Given the description of an element on the screen output the (x, y) to click on. 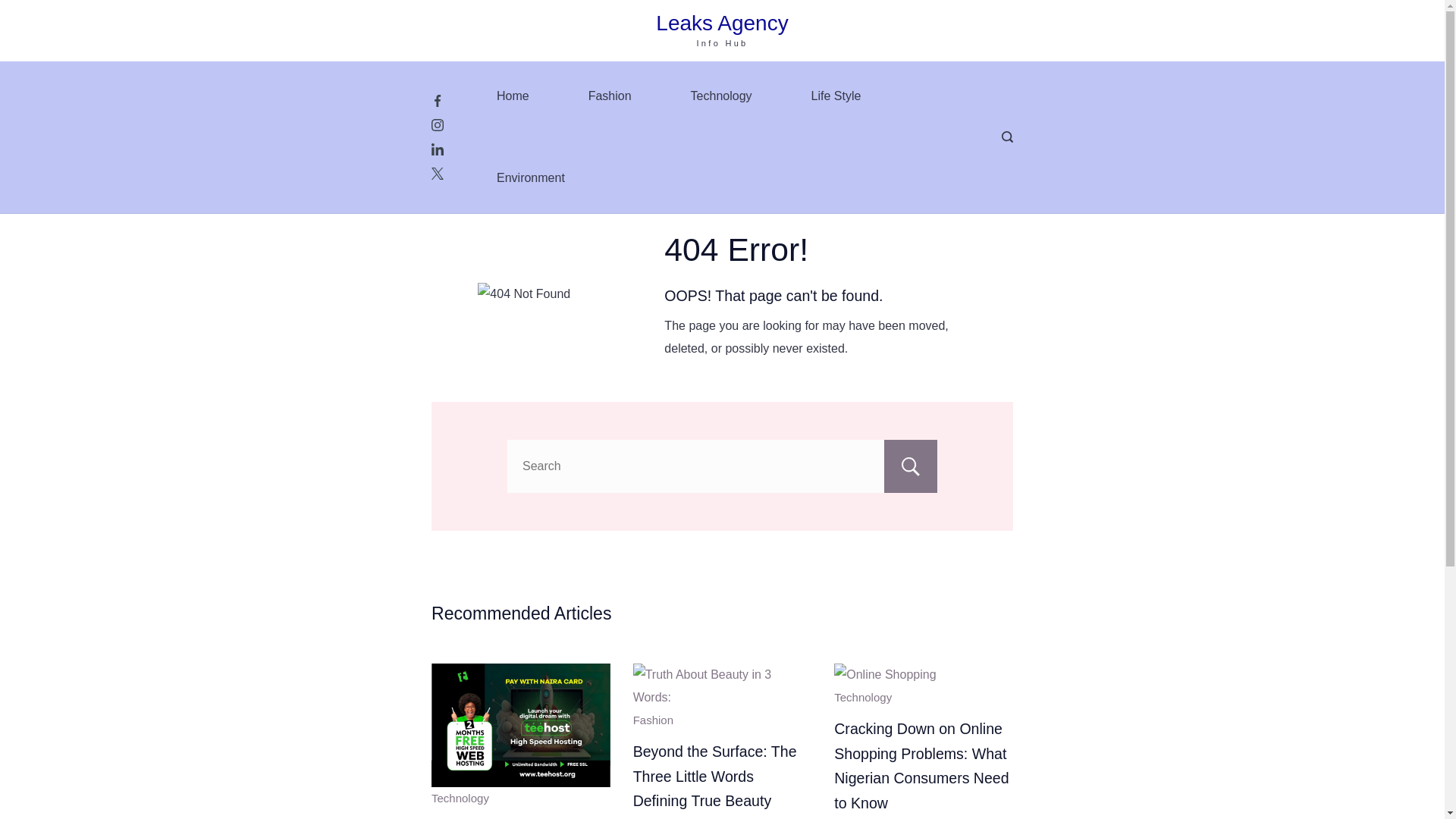
Technology (720, 95)
Search Input (721, 466)
Technology (459, 797)
Technology (862, 697)
Search (910, 466)
Search (910, 466)
Fashion (652, 719)
Life Style (835, 95)
Leaks Agency (721, 23)
Home (512, 95)
Search (910, 466)
